Given the description of an element on the screen output the (x, y) to click on. 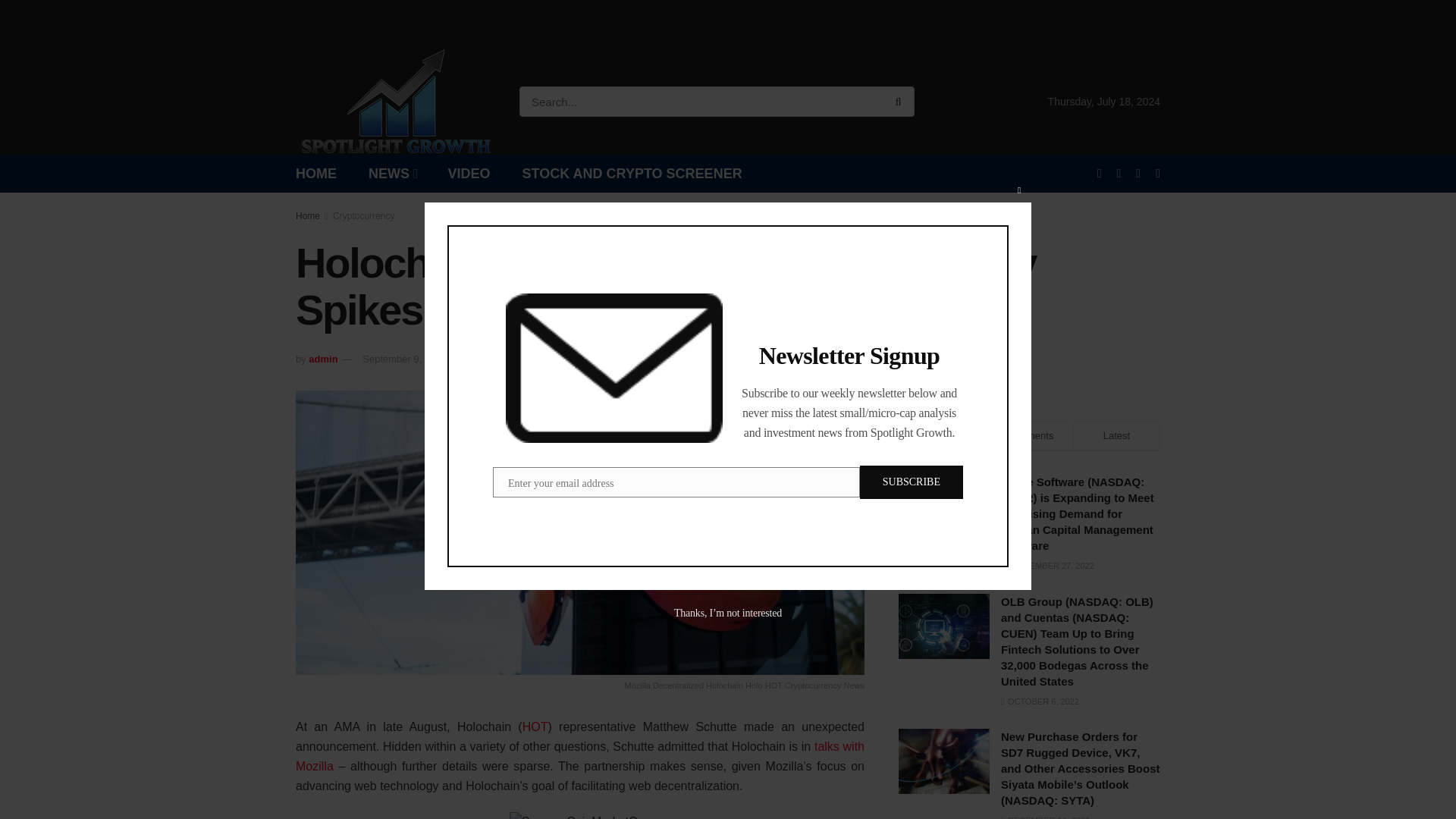
HOME (315, 173)
STOCK AND CRYPTO SCREENER (632, 173)
NEWS (392, 173)
VIDEO (469, 173)
